Given the description of an element on the screen output the (x, y) to click on. 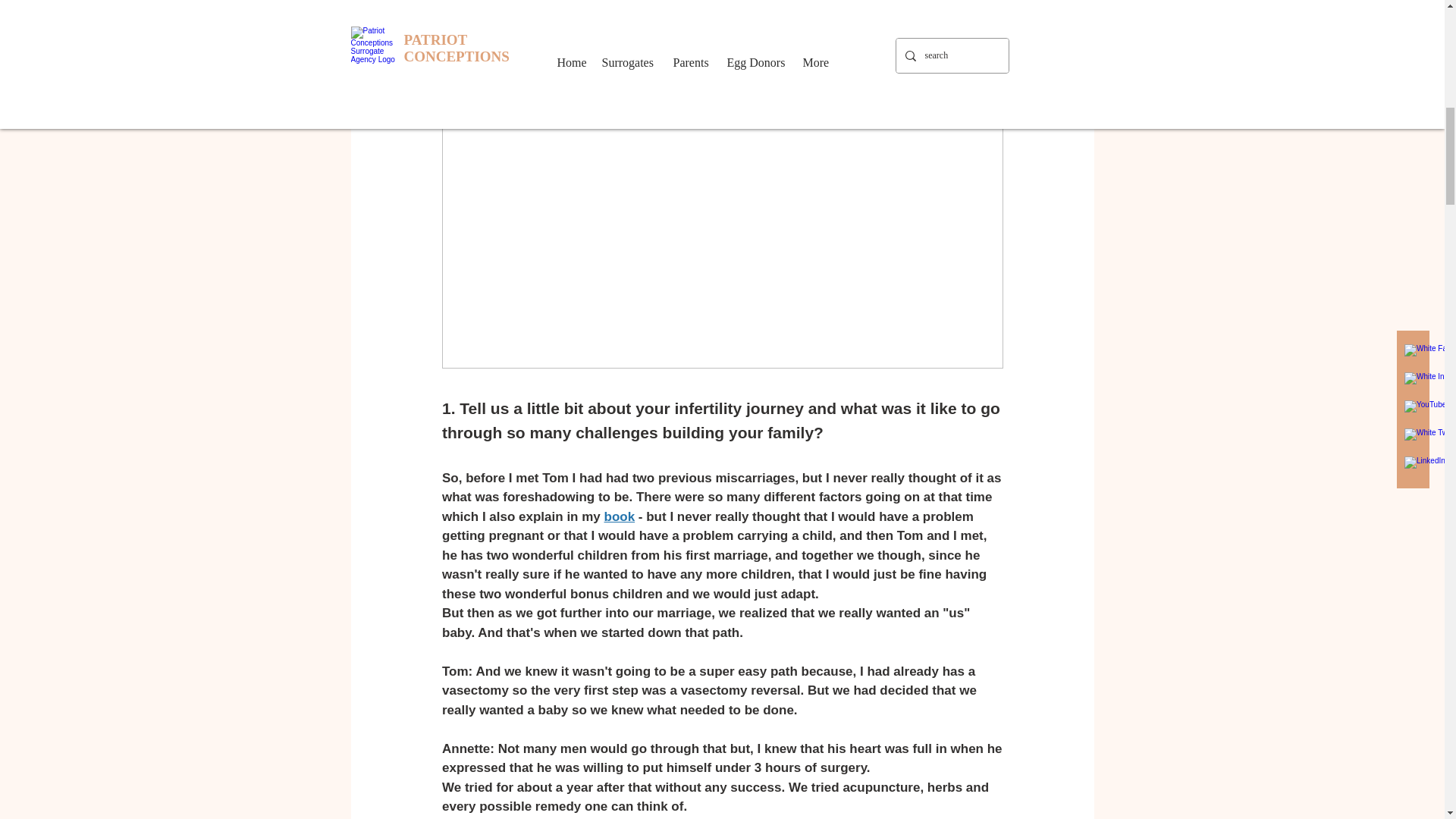
book (619, 516)
